Given the description of an element on the screen output the (x, y) to click on. 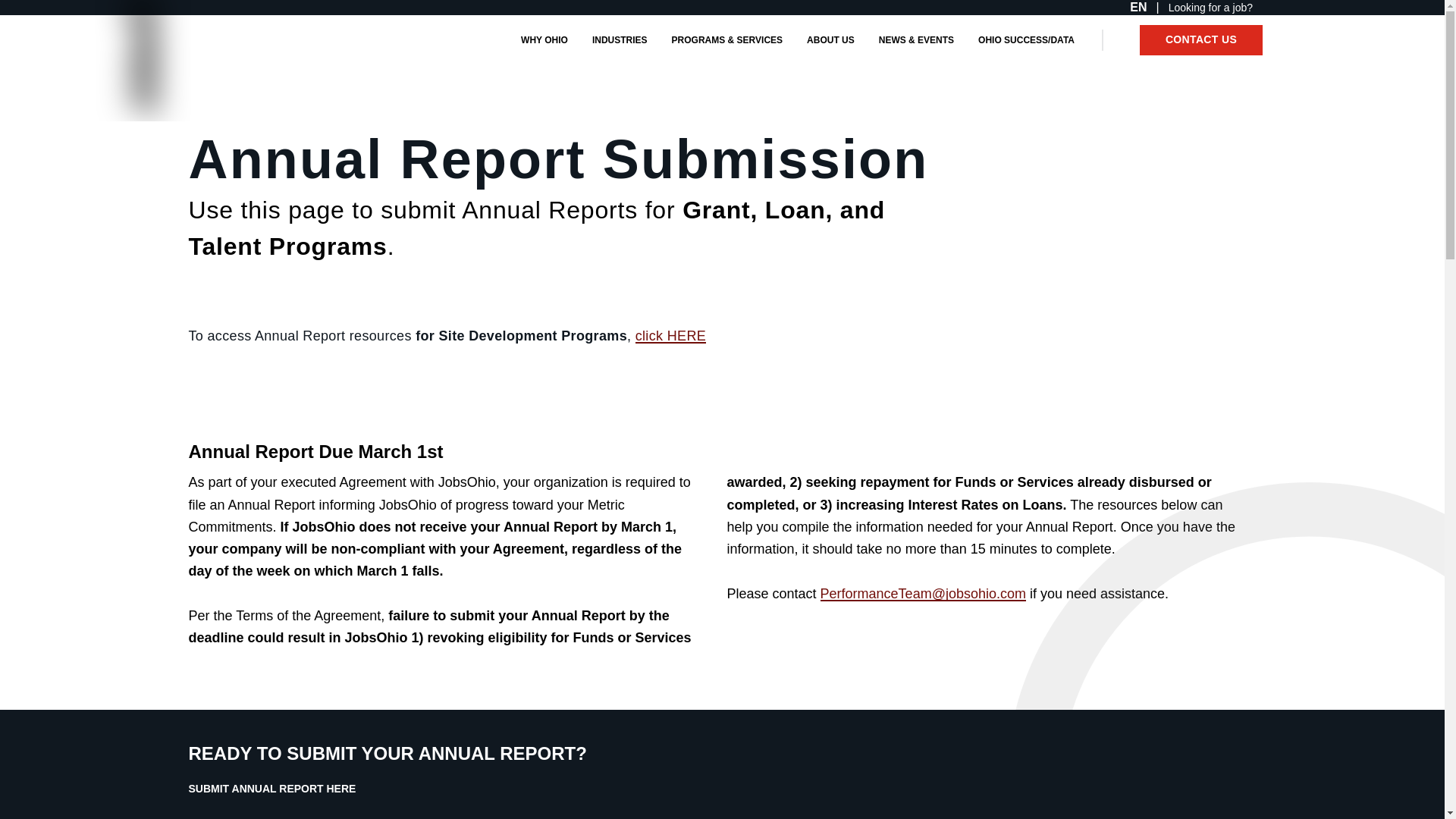
EN (1134, 7)
JobsOhio Home (112, 35)
WHY OHIO (548, 39)
INDUSTRIES (624, 39)
ABOUT US (834, 39)
click HERE (670, 335)
logo-animation (112, 35)
Looking for a job? (1215, 7)
Skip to content (40, 9)
